Given the description of an element on the screen output the (x, y) to click on. 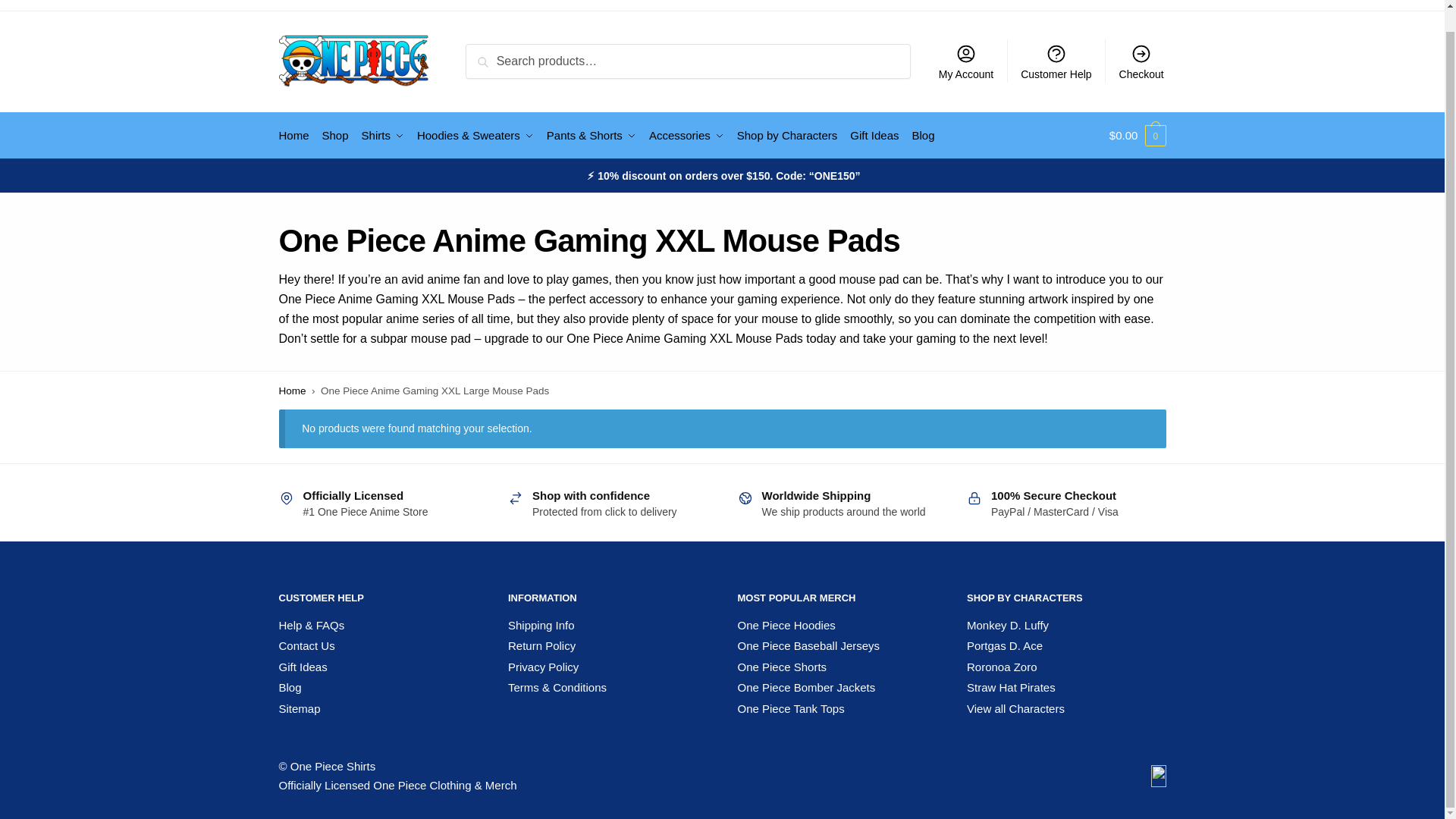
Blog (922, 135)
Accessories (686, 135)
Customer Help (1055, 61)
Checkout (1141, 61)
Shop (335, 135)
Gift Ideas (874, 135)
View your shopping cart (1137, 135)
Home (297, 135)
My Account (966, 61)
Shirts (382, 135)
Shop by Characters (786, 135)
Search (489, 54)
